Given the description of an element on the screen output the (x, y) to click on. 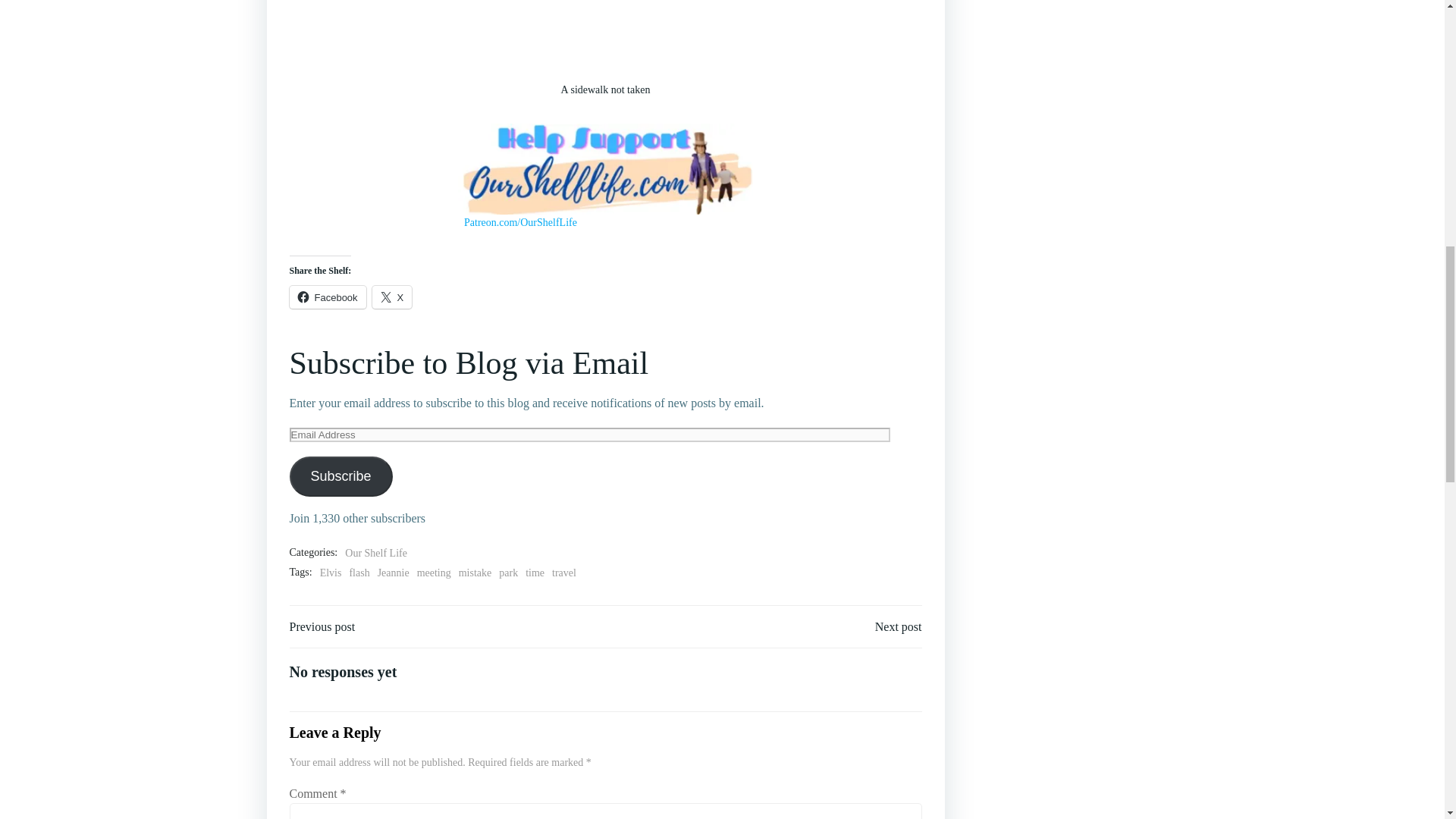
Our Shelf Life (376, 553)
Click to share on Facebook (327, 296)
Jeannie Tag (393, 573)
mistake Tag (475, 573)
time Tag (534, 573)
park (508, 573)
Click to share on X (392, 296)
Elvis Tag (331, 573)
mistake (475, 573)
flash Tag (359, 573)
